Given the description of an element on the screen output the (x, y) to click on. 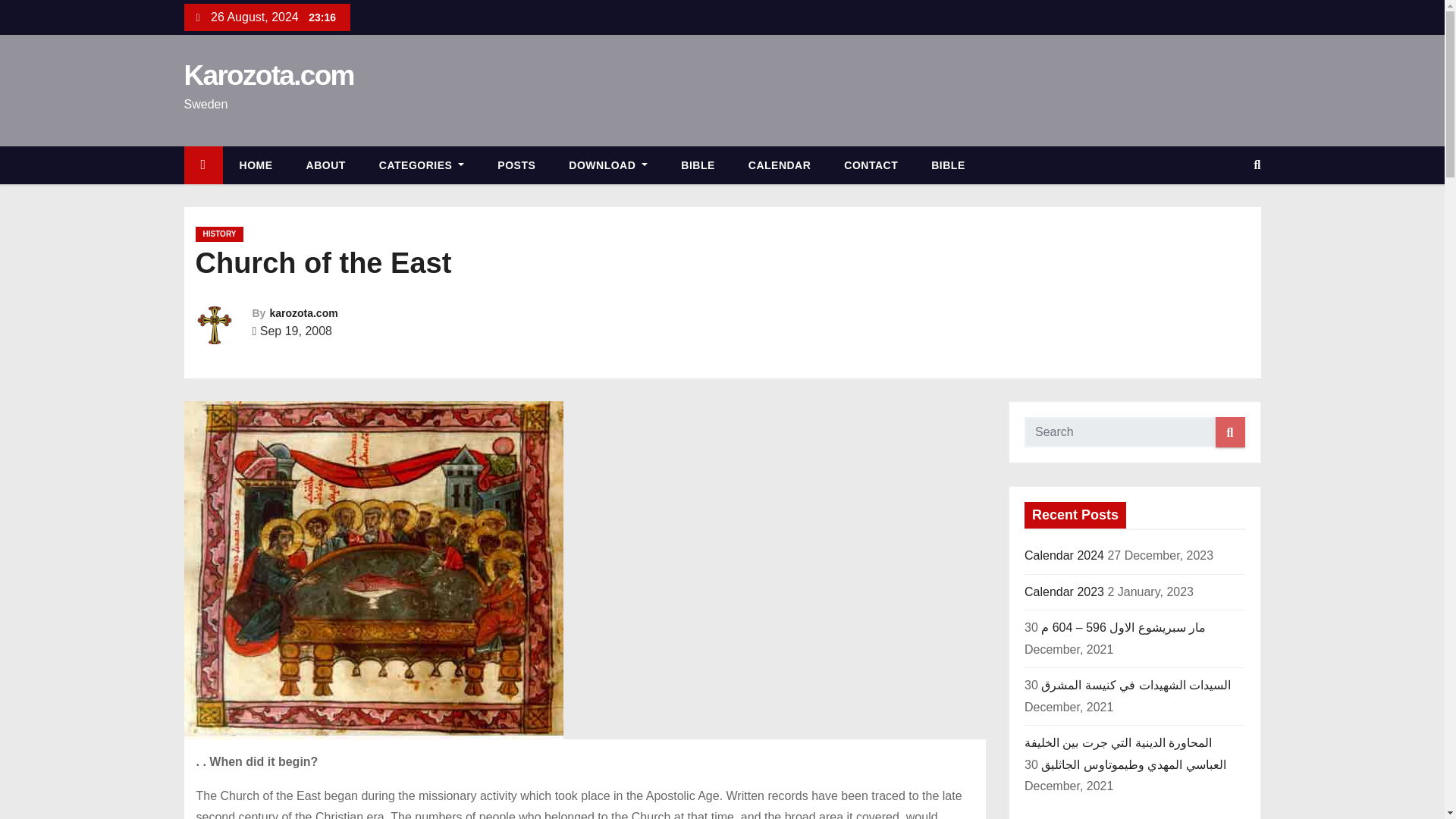
karozota.com (303, 313)
BIBLE (697, 165)
POSTS (515, 165)
POSTS (515, 165)
HISTORY (219, 233)
BIBLE (697, 165)
CALENDAR (780, 165)
HOME (255, 165)
Home (202, 165)
BIBLE (947, 165)
